Given the description of an element on the screen output the (x, y) to click on. 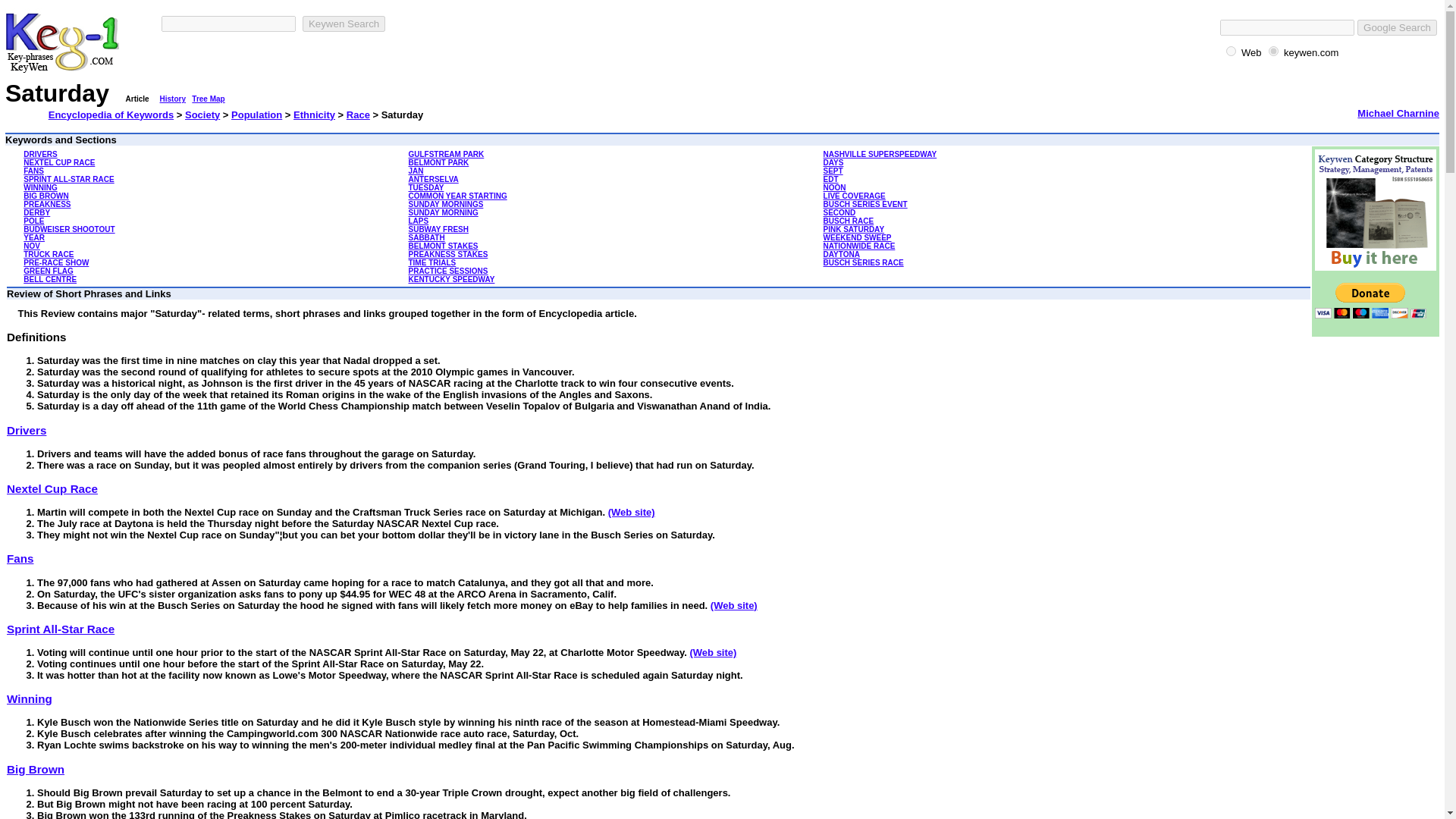
BELMONT PARK (437, 162)
DERBY (36, 212)
Keywen Search (343, 23)
Keywen Search (343, 23)
LAPS (417, 221)
SUNDAY MORNING (442, 212)
Michael Charnine (1397, 112)
NOV (31, 245)
GULFSTREAM PARK (445, 153)
JAN (415, 171)
COMMON YEAR STARTING (456, 195)
ANTERSELVA (432, 179)
BIG BROWN (45, 195)
SPRINT ALL-STAR RACE (68, 179)
Race (357, 114)
